Given the description of an element on the screen output the (x, y) to click on. 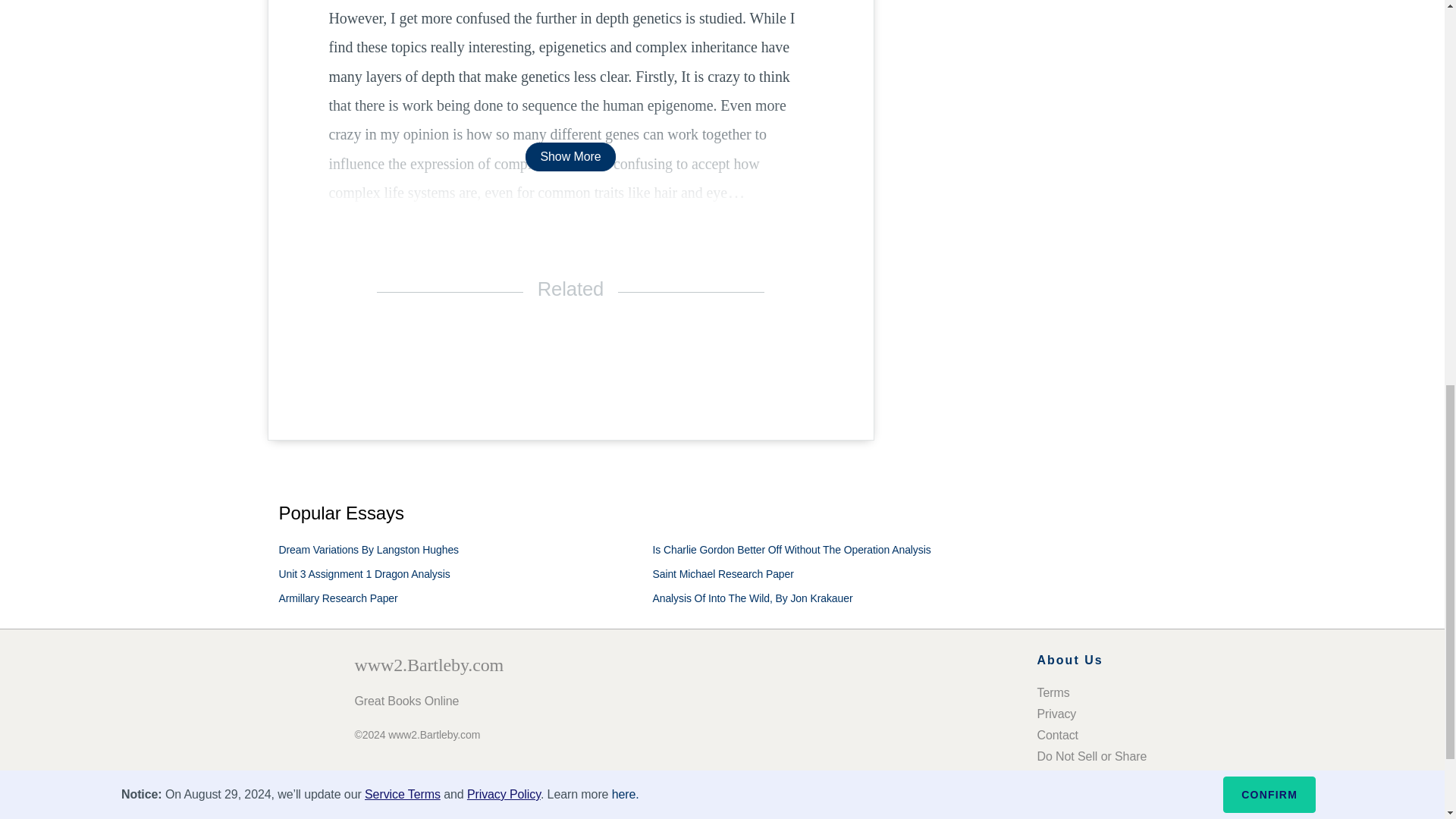
Contact (1057, 735)
Dream Variations By Langston Hughes (368, 549)
Privacy (1056, 713)
Show More (569, 156)
Terms (1053, 692)
Armillary Research Paper (338, 598)
Is Charlie Gordon Better Off Without The Operation Analysis (791, 549)
Dream Variations By Langston Hughes (368, 549)
Unit 3 Assignment 1 Dragon Analysis (364, 573)
Analysis Of Into The Wild, By Jon Krakauer (751, 598)
